Given the description of an element on the screen output the (x, y) to click on. 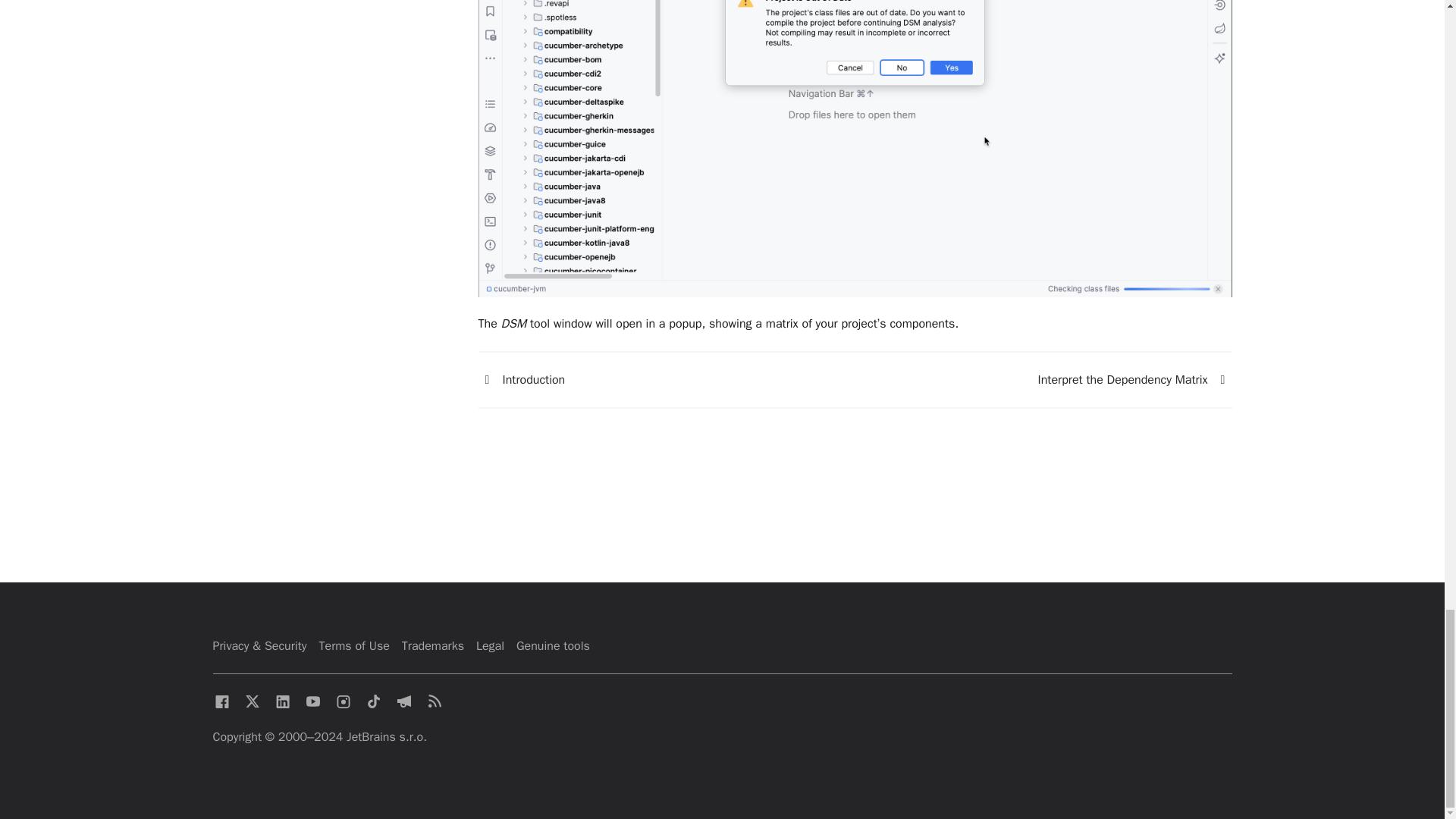
Interpret the Dependency Matrix (1221, 380)
Introduction (520, 379)
Introduction (486, 380)
